Given the description of an element on the screen output the (x, y) to click on. 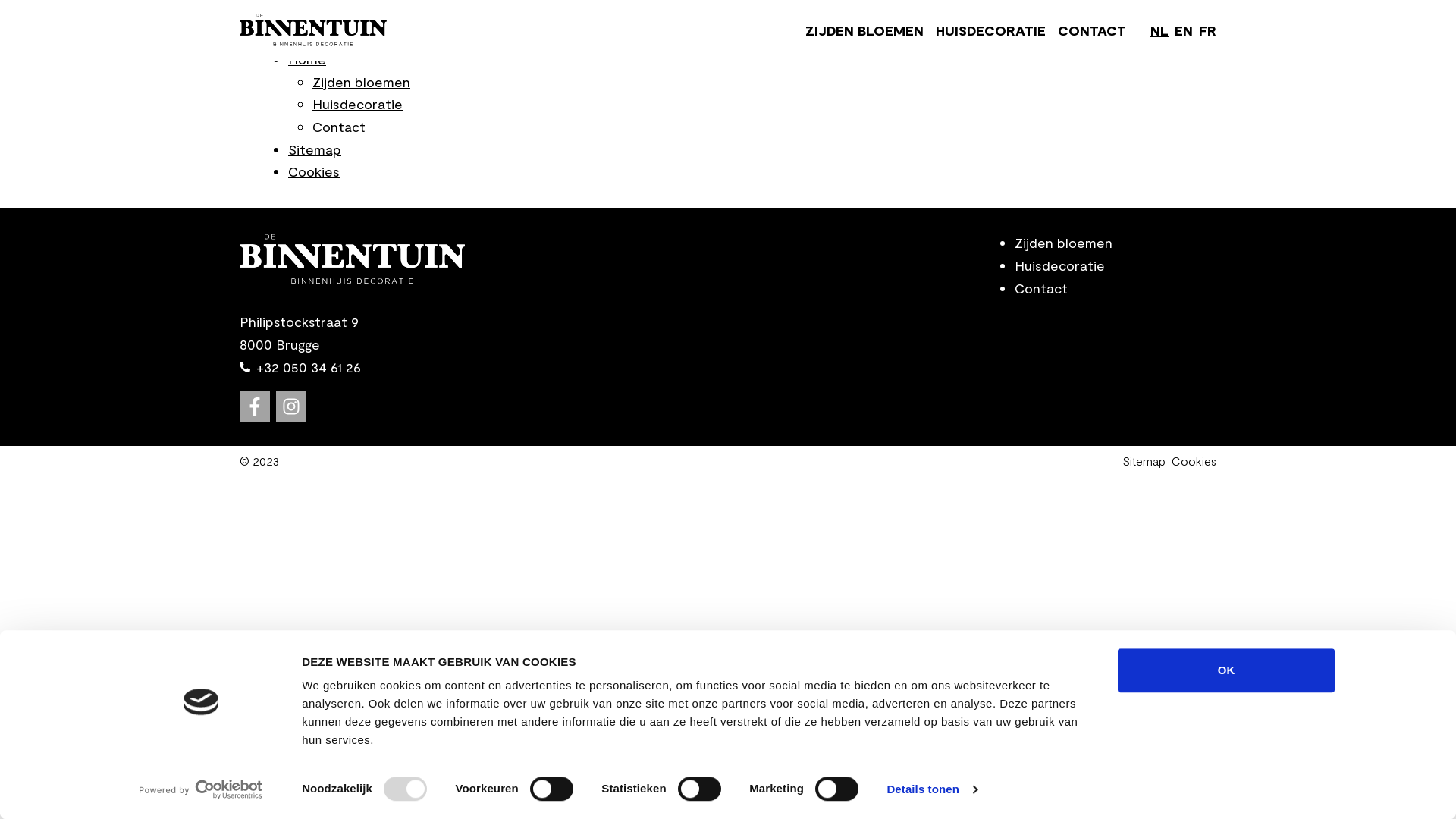
Huisdecoratie Element type: text (1059, 265)
Cookies Element type: text (1193, 460)
Details tonen Element type: text (931, 789)
HUISDECORATIE Element type: text (990, 30)
Zijden bloemen Element type: text (361, 81)
ZIJDEN BLOEMEN Element type: text (864, 30)
Huisdecoratie Element type: text (357, 103)
Sitemap Element type: text (314, 149)
Sitemap Element type: text (1143, 460)
Home Element type: text (307, 58)
EN Element type: text (1183, 29)
Cookies Element type: text (313, 171)
OK Element type: text (1225, 670)
Contact Element type: text (1040, 287)
FR Element type: text (1207, 29)
+32 050 34 61 26 Element type: text (299, 367)
Zijden bloemen Element type: text (1063, 242)
CONTACT Element type: text (1091, 30)
Contact Element type: text (338, 126)
NL Element type: text (1159, 29)
